Given the description of an element on the screen output the (x, y) to click on. 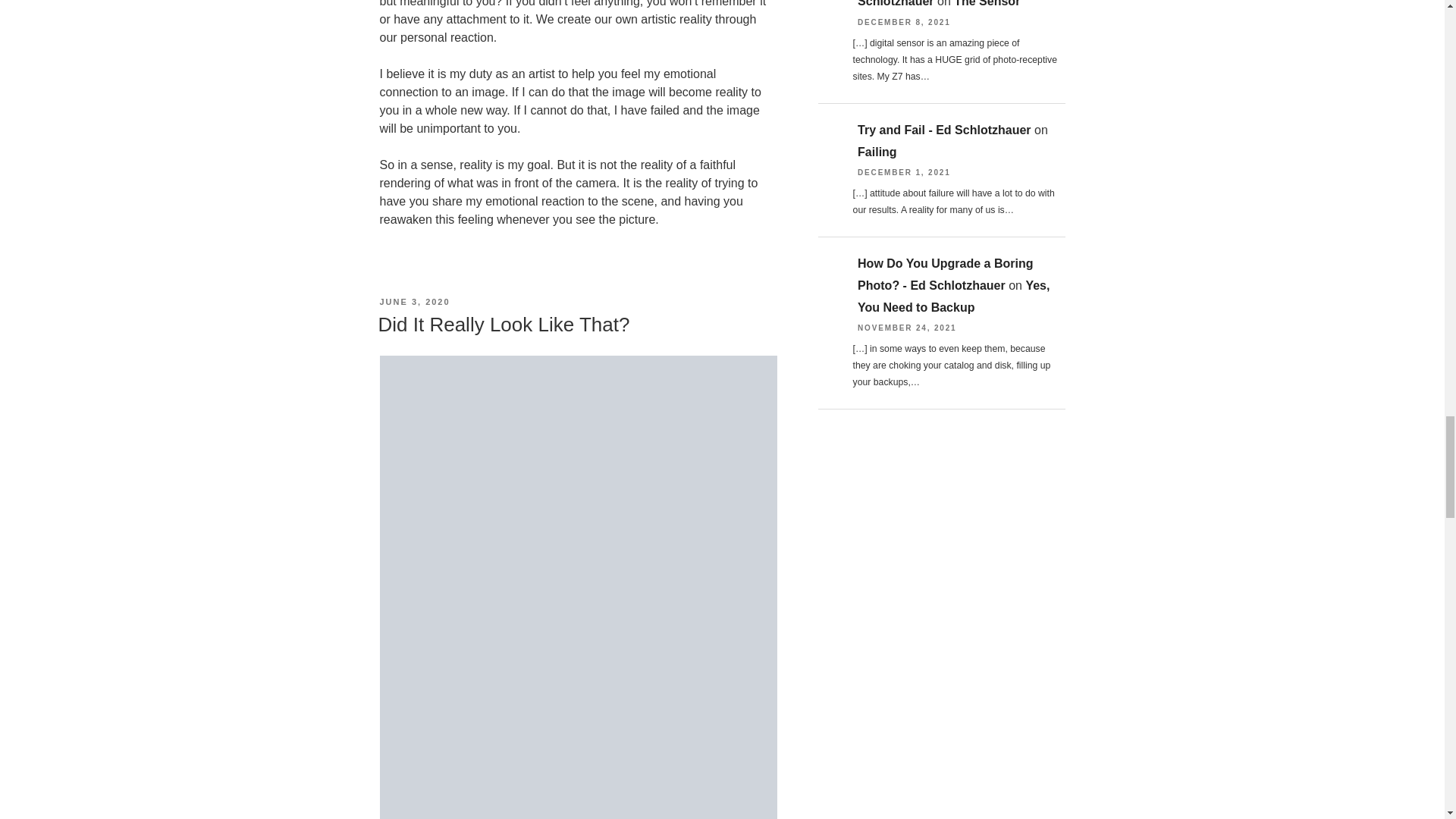
Did It Really Look Like That? (502, 323)
JUNE 3, 2020 (413, 301)
